Given the description of an element on the screen output the (x, y) to click on. 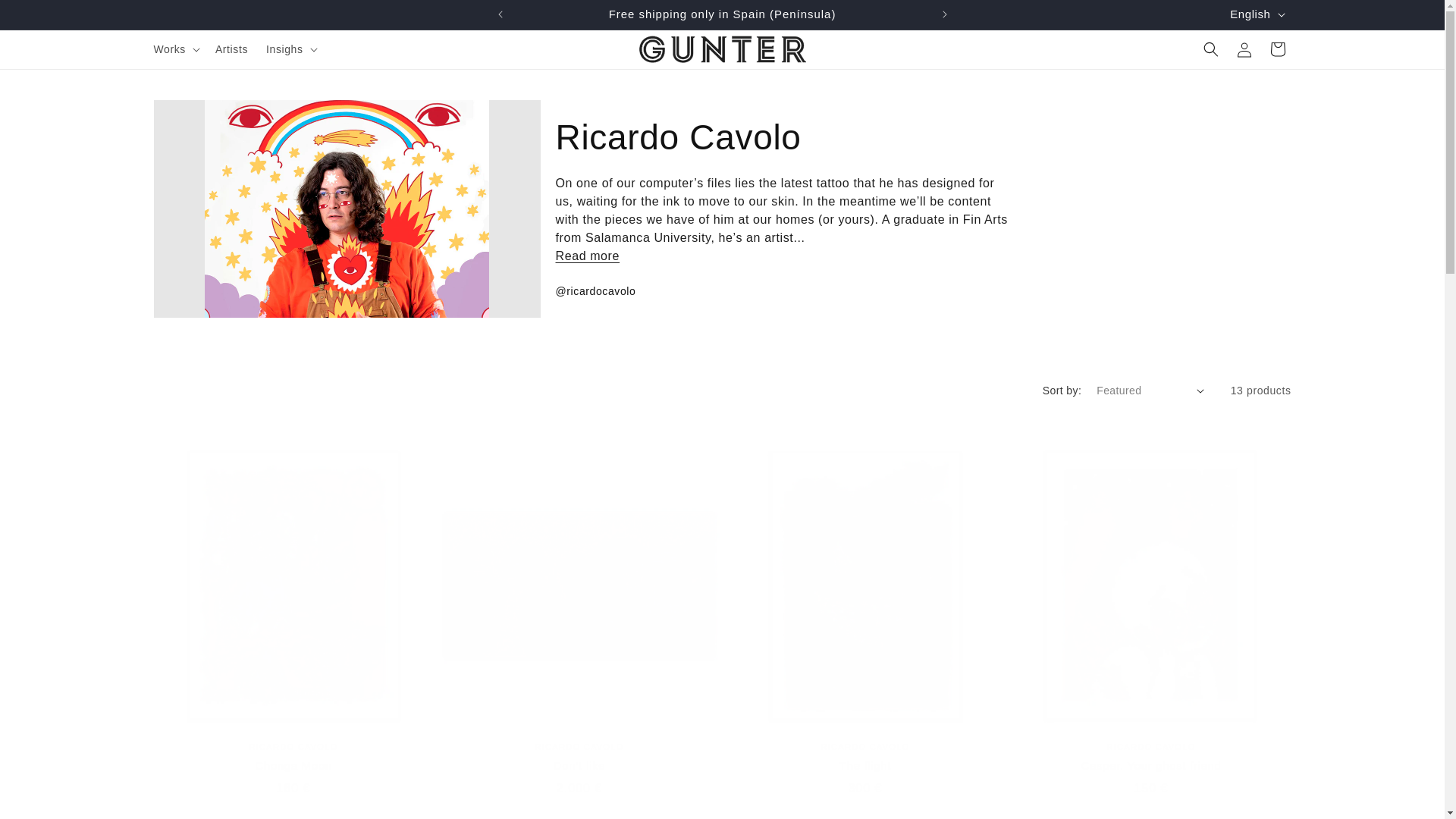
Artists (231, 49)
SKIP TO CONTENT (45, 17)
English (1255, 14)
Log in (1243, 49)
